Given the description of an element on the screen output the (x, y) to click on. 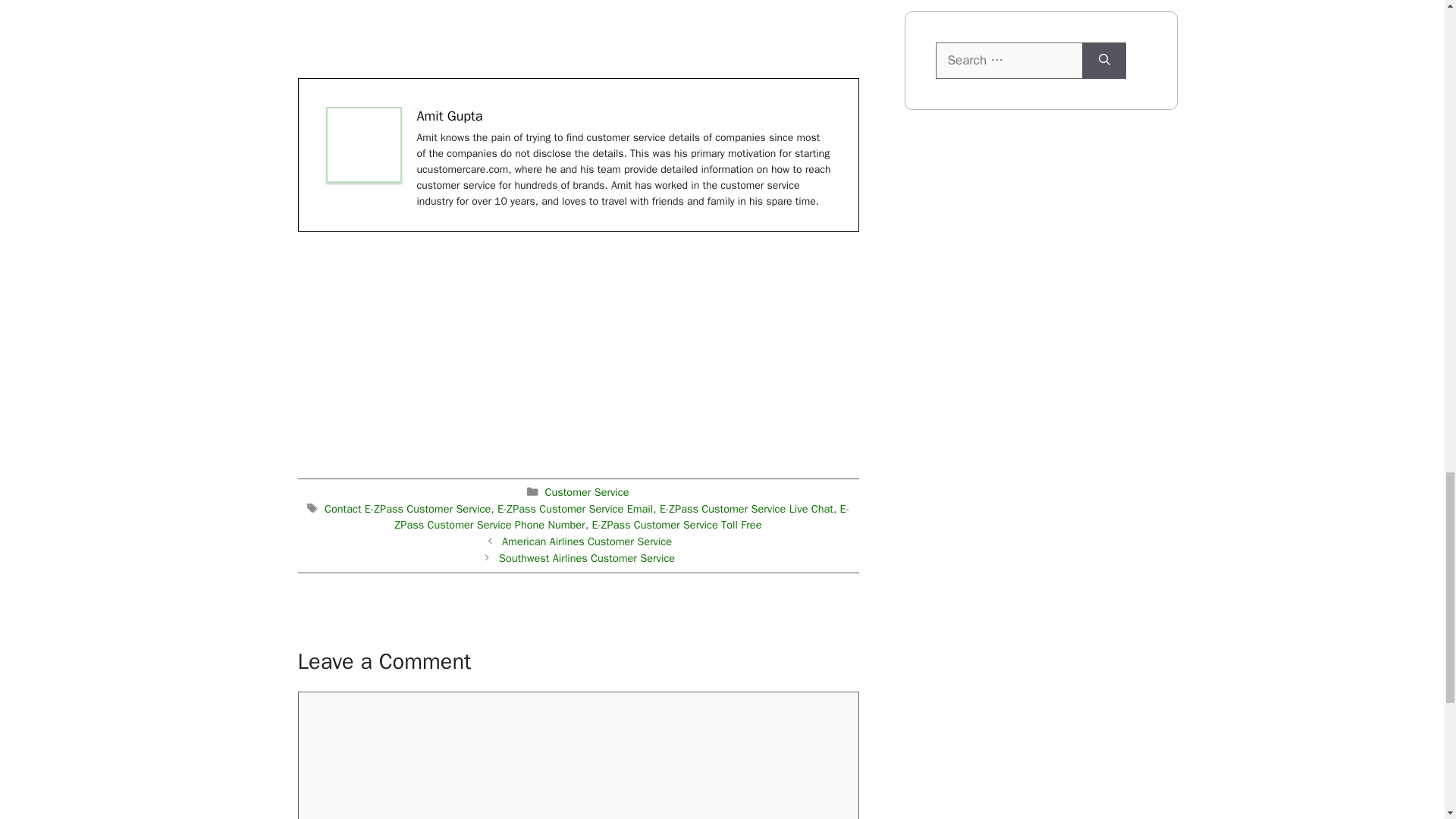
E-ZPass Customer Service Email (574, 508)
Amit Gupta (449, 115)
E-ZPass Customer Service Toll Free (676, 524)
E-ZPass Customer Service Live Chat (745, 508)
Contact E-ZPass Customer Service (407, 508)
Southwest Airlines Customer Service (587, 558)
Next (587, 558)
Customer Service (586, 491)
E-ZPass Customer Service Phone Number (621, 517)
American Airlines Customer Service (586, 540)
